Given the description of an element on the screen output the (x, y) to click on. 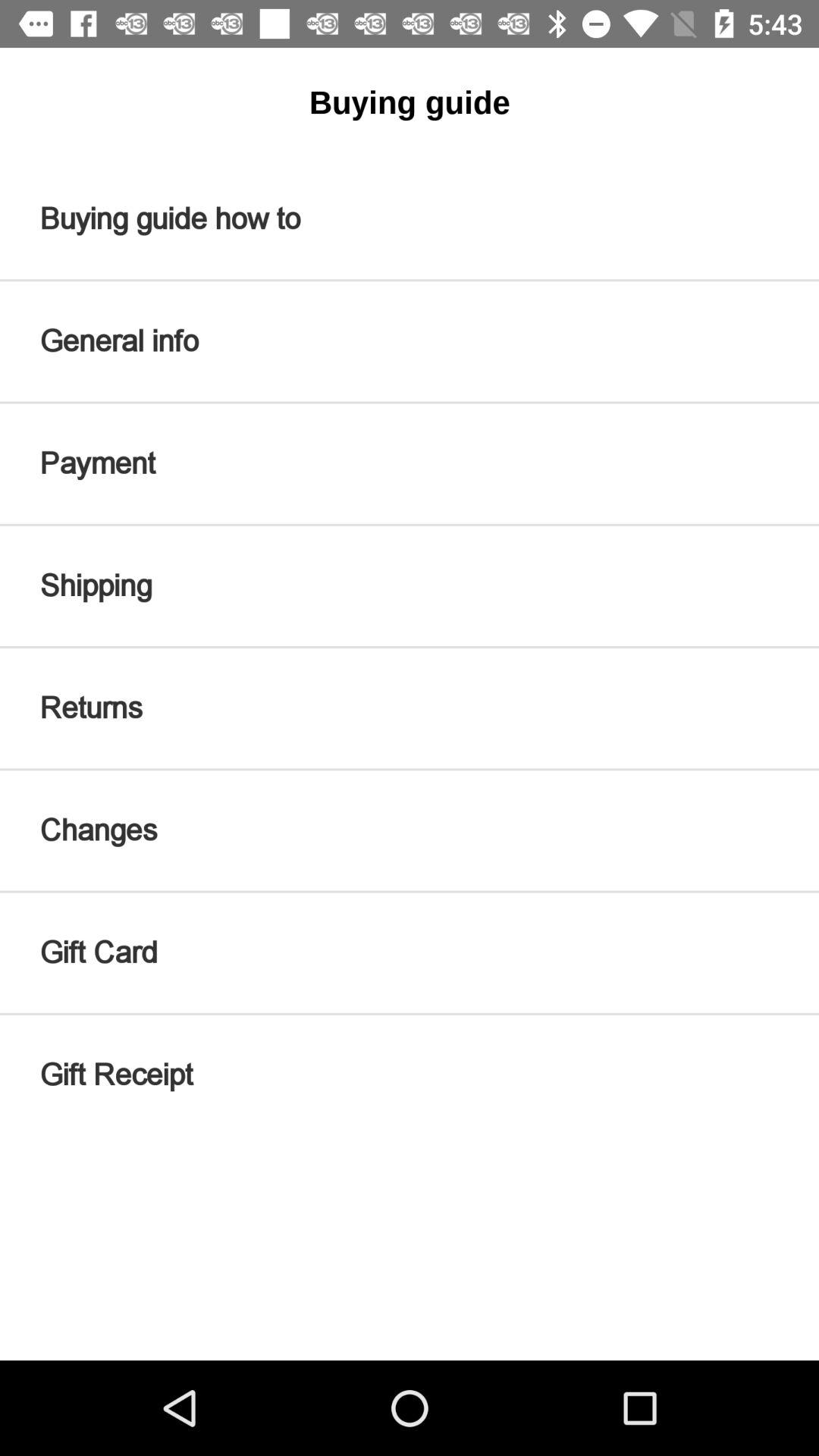
swipe to returns (409, 708)
